Given the description of an element on the screen output the (x, y) to click on. 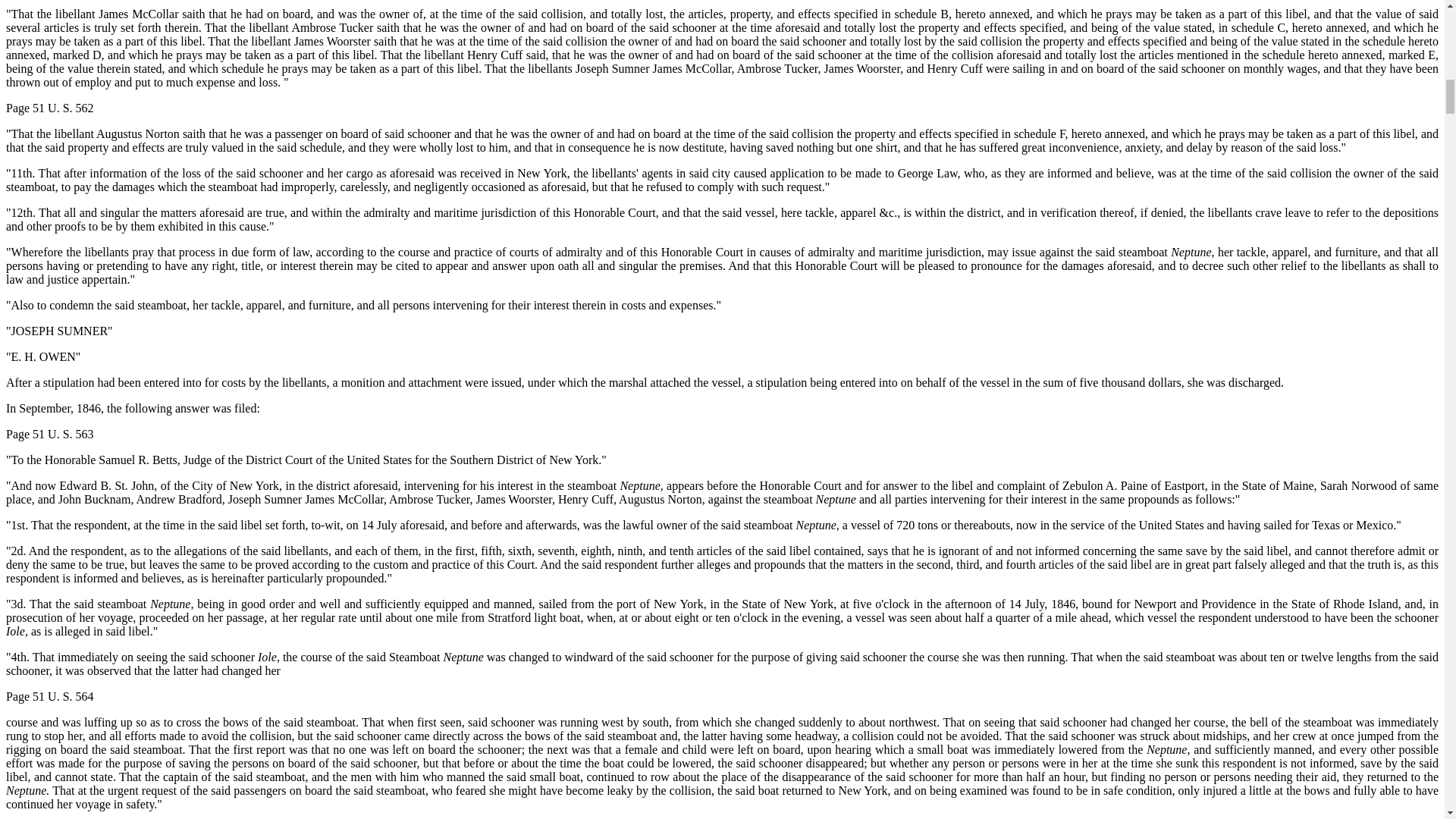
Page 51 U. S. 562 (49, 107)
Page 51 U. S. 564 (49, 696)
Page 51 U. S. 563 (49, 433)
